Given the description of an element on the screen output the (x, y) to click on. 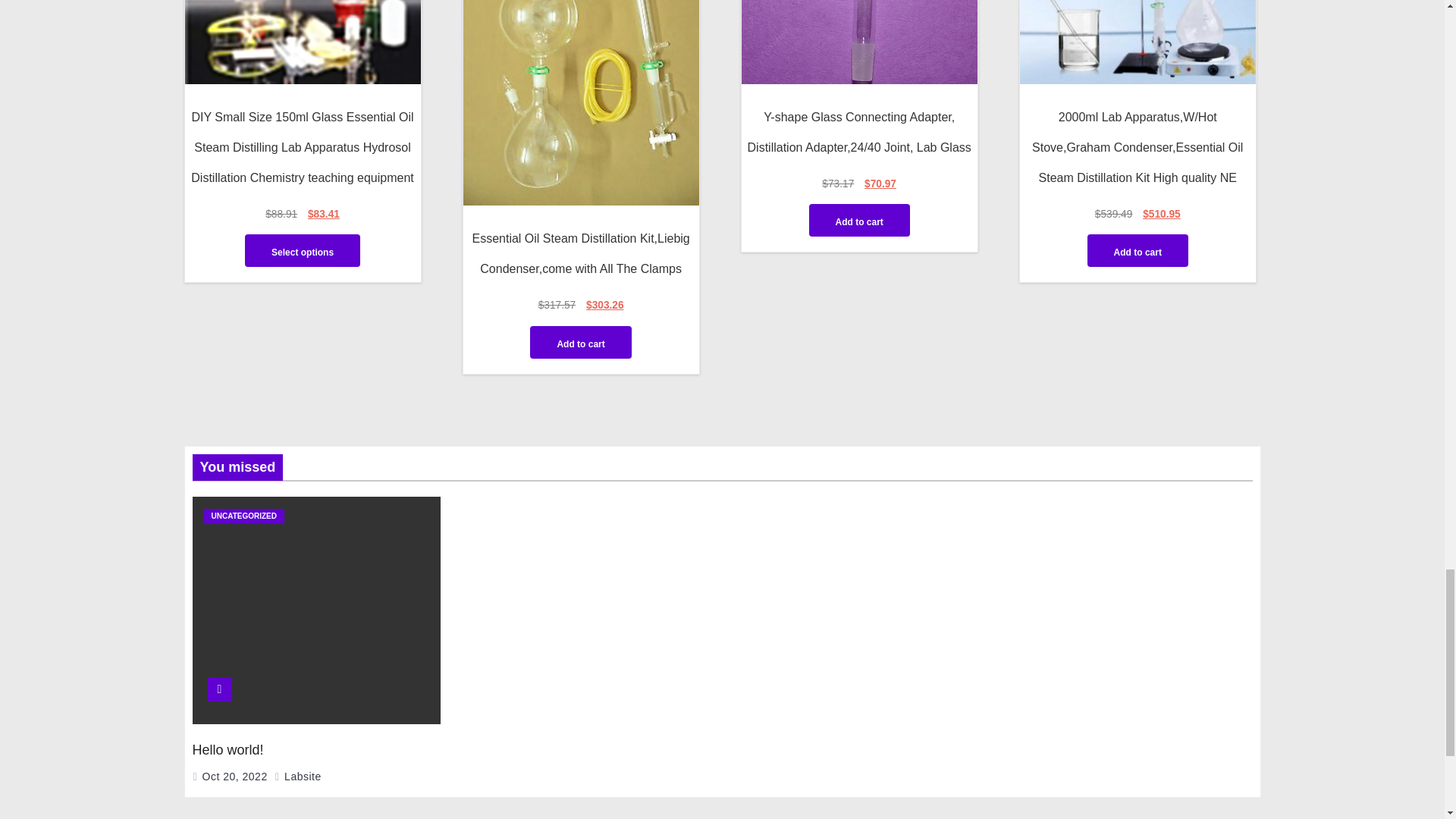
Permalink to: Hello world! (227, 749)
Add to cart (579, 341)
Add to cart (1137, 250)
Hello world! (227, 749)
Add to cart (858, 219)
Select options (301, 250)
Oct 20, 2022 (234, 776)
UNCATEGORIZED (243, 516)
